Given the description of an element on the screen output the (x, y) to click on. 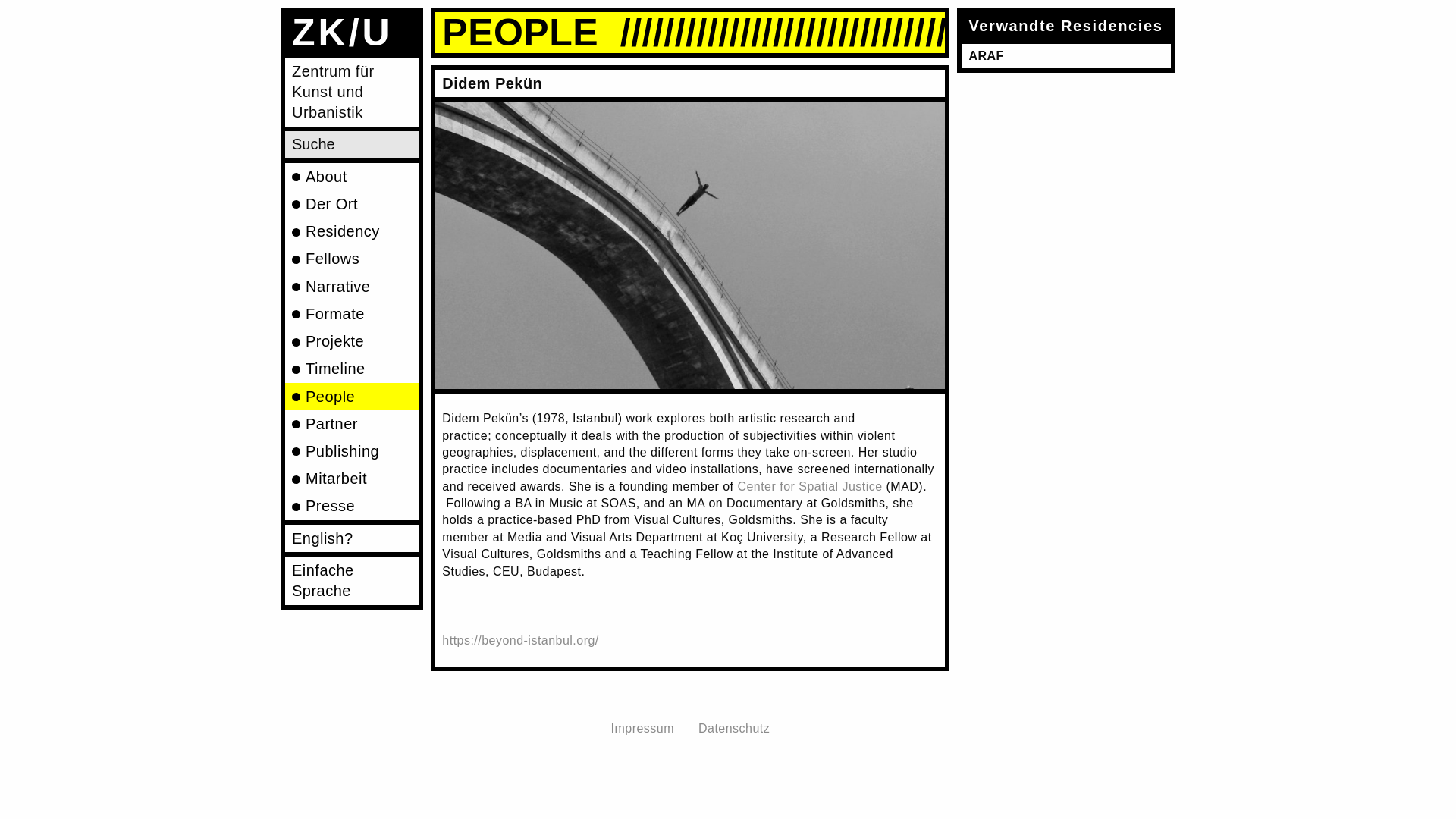
Datenschutz (734, 727)
Formate (352, 313)
Einfache Sprache (352, 580)
Fellows (352, 258)
Center for Spatial Justice (809, 486)
Der Ort (352, 203)
Partner (352, 423)
Impressum (642, 727)
Mitarbeit (352, 479)
About (352, 176)
